Given the description of an element on the screen output the (x, y) to click on. 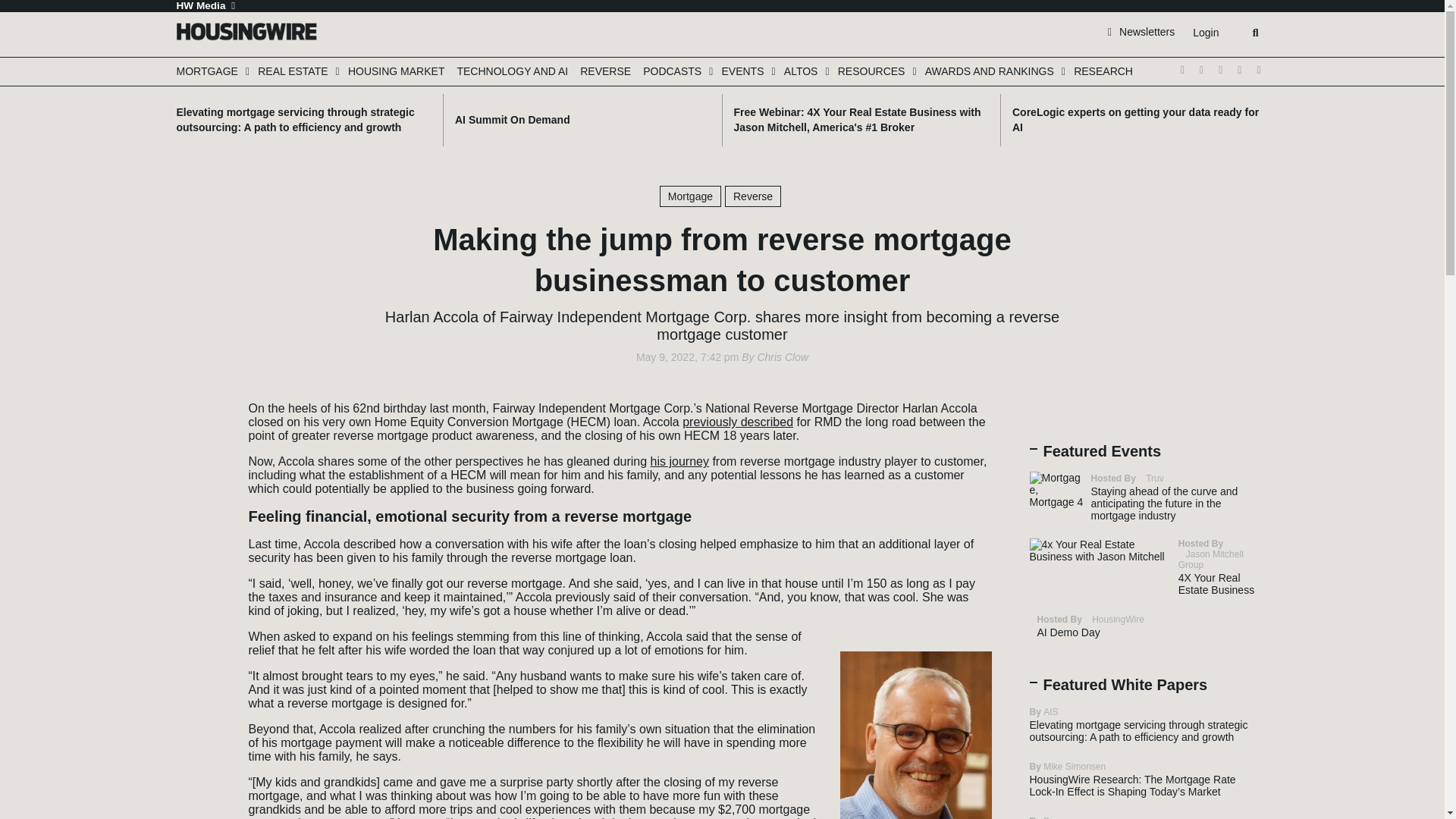
Click to copy link (203, 494)
Click to share on Twitter (203, 403)
Click to share on LinkedIn (203, 449)
Click to share on Facebook (203, 426)
Login (1205, 32)
Posts by Chris Clow (782, 357)
Click to email a link to a friend (203, 472)
Newsletters (1141, 31)
